Given the description of an element on the screen output the (x, y) to click on. 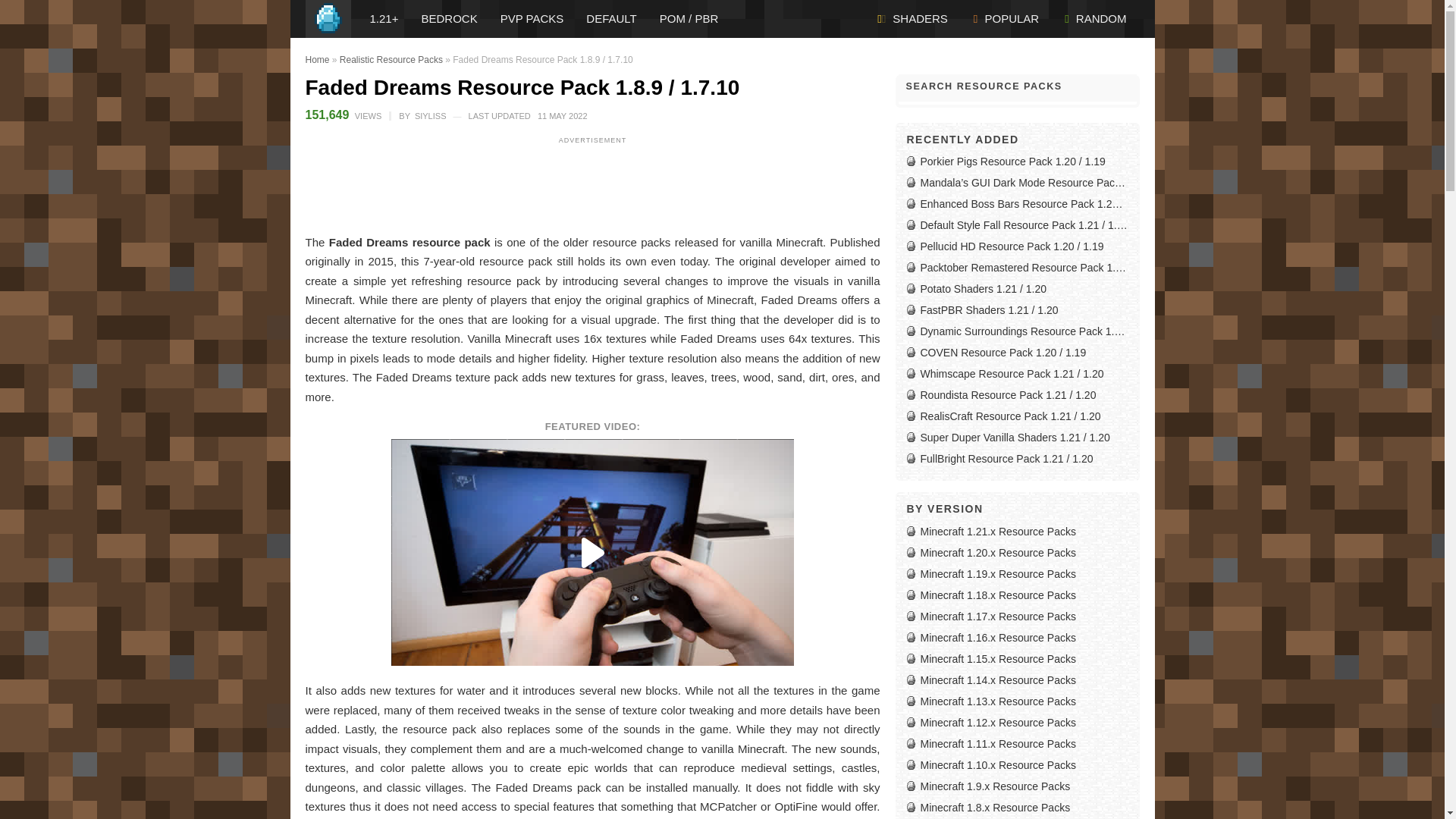
Realistic Resource Packs (390, 59)
POPULAR (1005, 18)
Home (316, 59)
We will find a pack for you at random (1094, 18)
Player versus Player Resource Packs (532, 17)
BEDROCK (448, 17)
SHADERS (912, 18)
DEFAULT (611, 17)
Advertisement (591, 183)
